Given the description of an element on the screen output the (x, y) to click on. 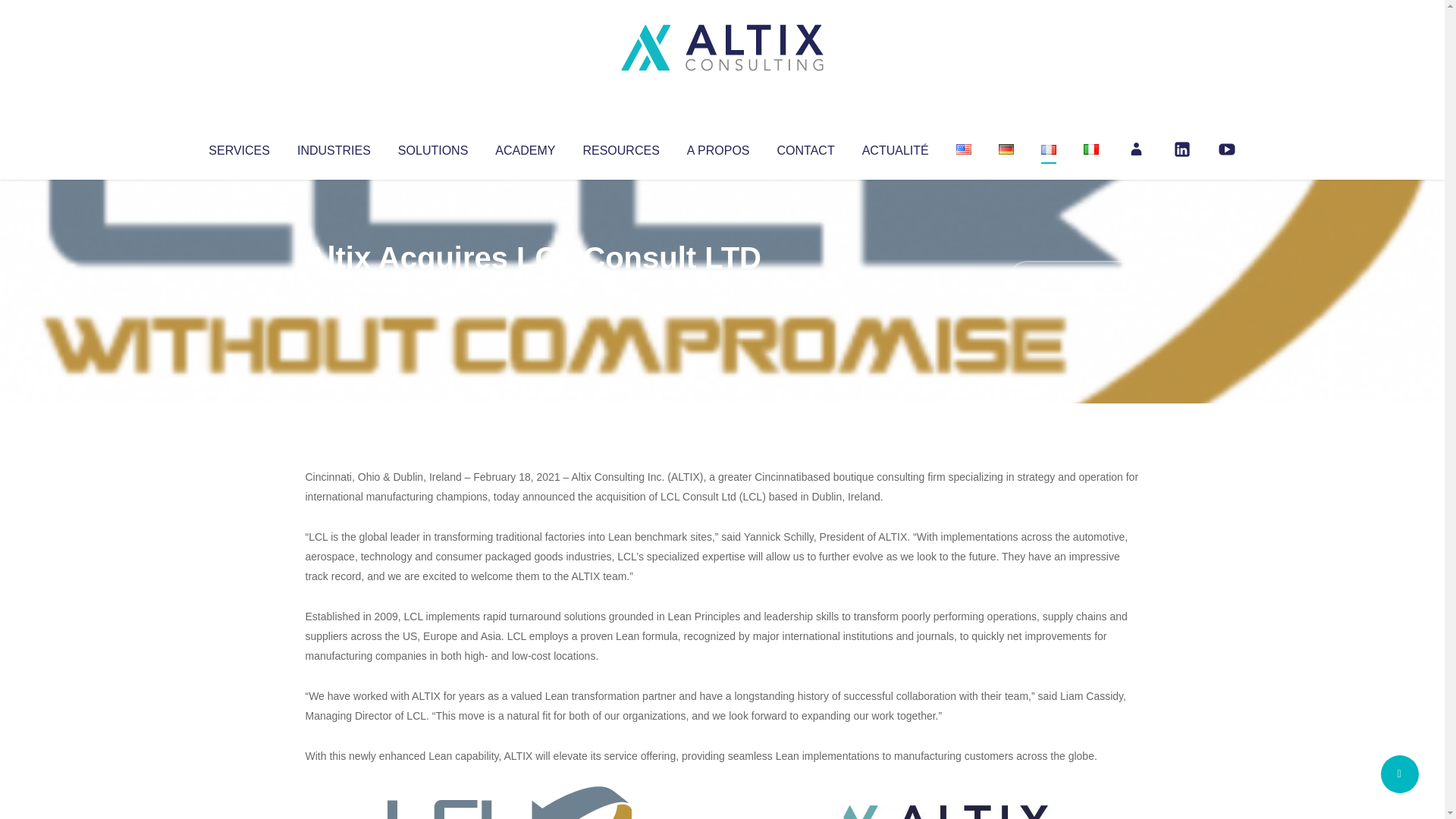
A PROPOS (718, 146)
INDUSTRIES (334, 146)
SOLUTIONS (432, 146)
RESOURCES (620, 146)
Altix (333, 287)
Uncategorized (530, 287)
No Comments (1073, 278)
SERVICES (238, 146)
Articles par Altix (333, 287)
ACADEMY (524, 146)
